Given the description of an element on the screen output the (x, y) to click on. 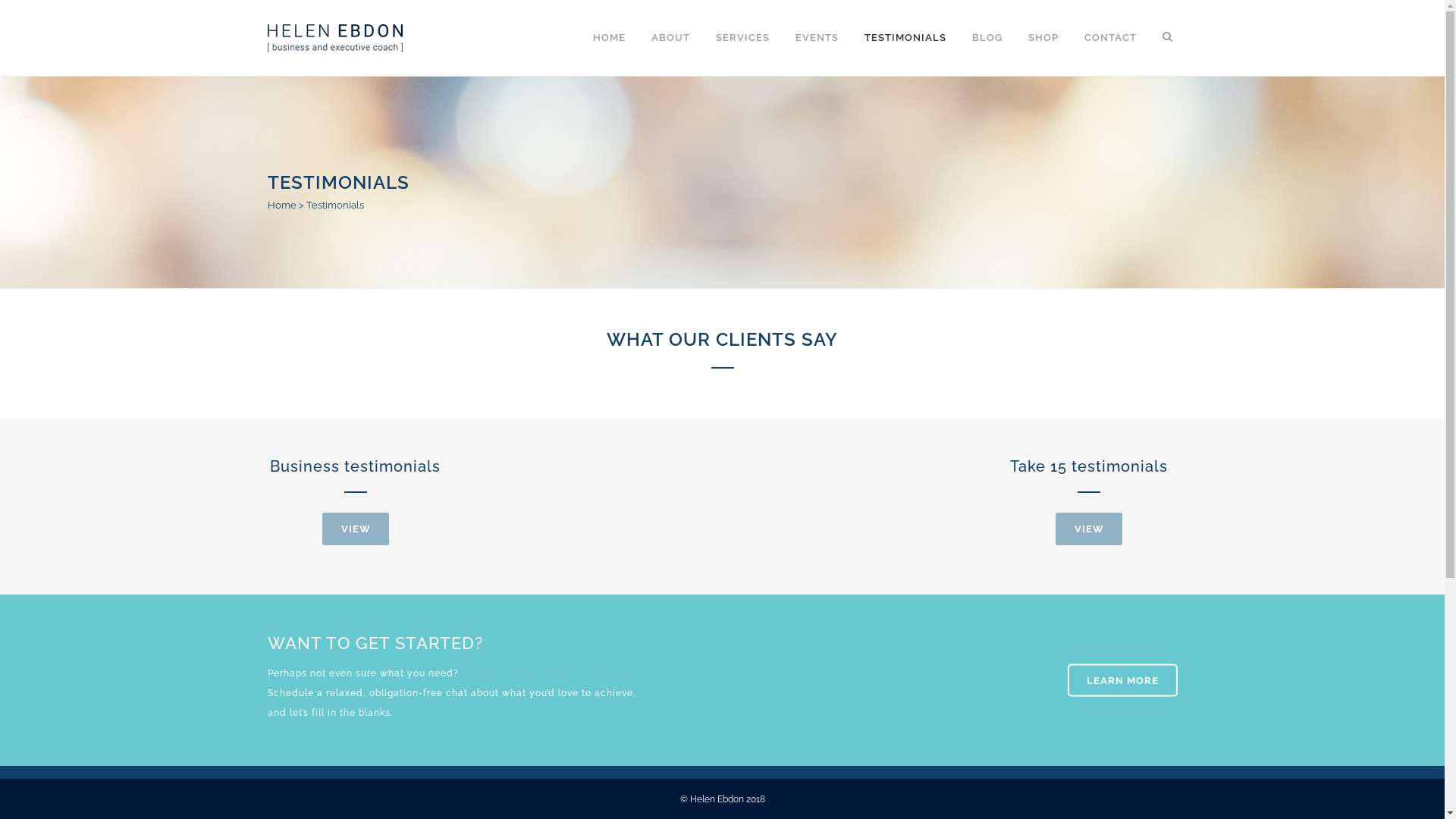
Blog Element type: text (748, 621)
ABOUT Element type: text (670, 37)
SERVICES Element type: text (741, 37)
TESTIMONIALS Element type: text (904, 37)
HOME Element type: text (608, 37)
Home Element type: text (280, 204)
About Element type: text (751, 533)
CONTACT Element type: text (1109, 37)
VIEW Element type: text (355, 528)
LEARN MORE Element type: text (1122, 680)
SHOP Element type: text (1042, 37)
Events Element type: text (753, 562)
Testimonials Element type: text (767, 592)
VIEW Element type: text (1088, 528)
Take Back Your Power from Technology with these 7 easy steps Element type: text (611, 634)
EVENTS Element type: text (816, 37)
helen@helenebdon.com.au Element type: text (367, 643)
Shop Element type: text (749, 651)
BLOG Element type: text (986, 37)
